Given the description of an element on the screen output the (x, y) to click on. 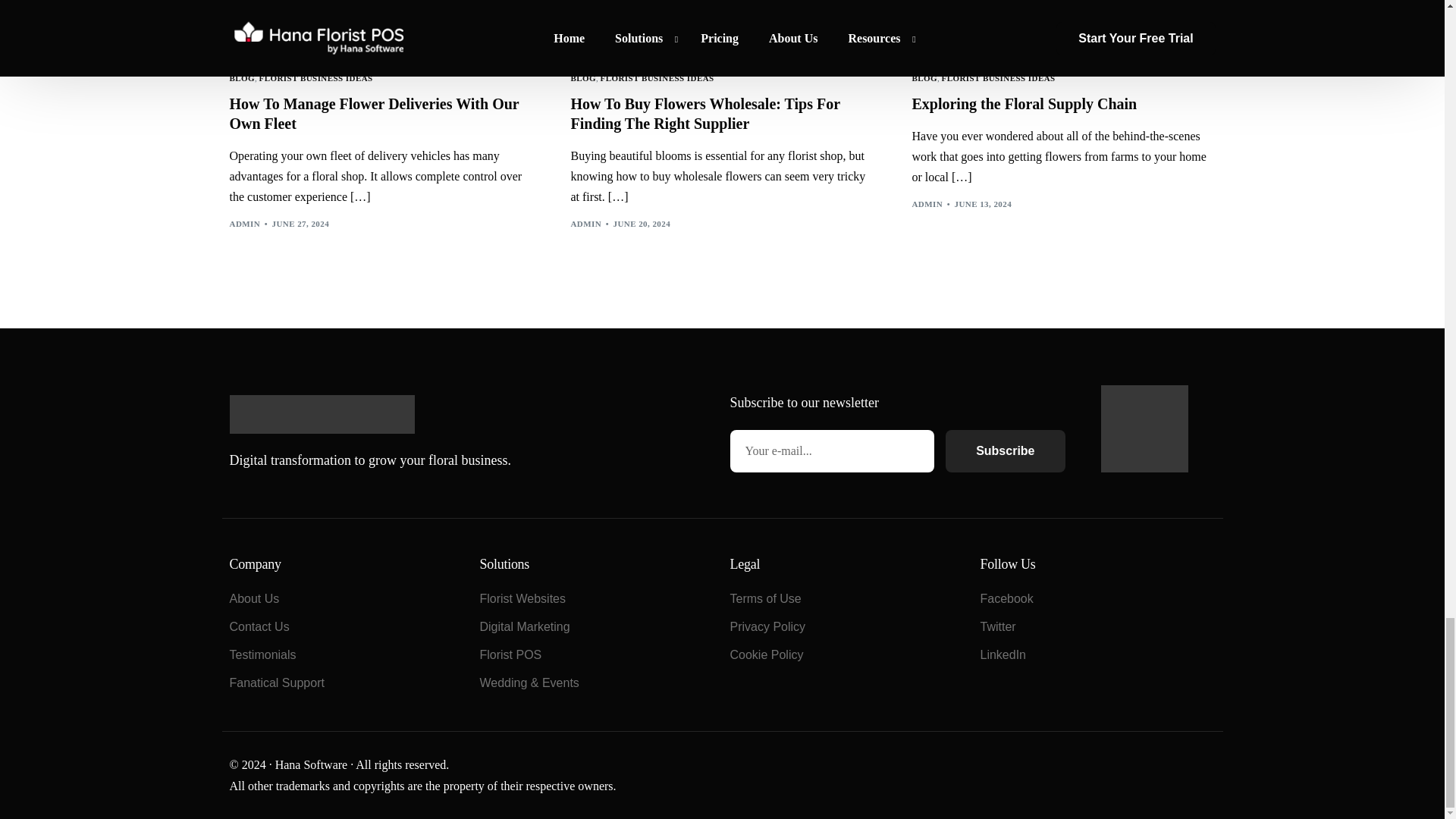
View Blog posts (241, 78)
View Florist Business Ideas posts (656, 78)
Posts by admin (244, 223)
View Blog posts (582, 78)
View Florist Business Ideas posts (315, 78)
